Given the description of an element on the screen output the (x, y) to click on. 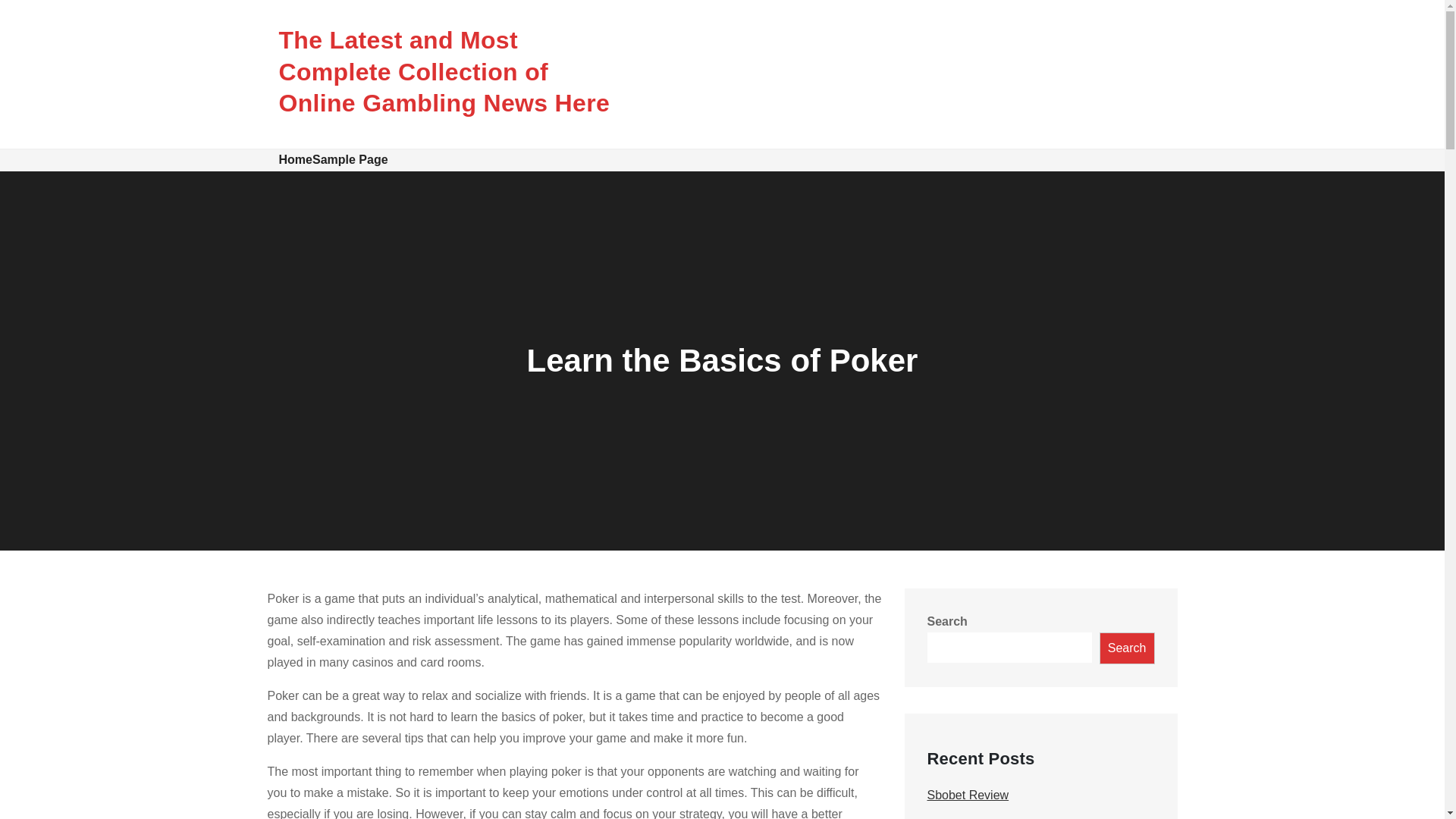
Home (296, 159)
Sample Page (350, 159)
Sbobet Review (967, 794)
Search (1126, 648)
Skills to Learn in Poker (988, 818)
